Given the description of an element on the screen output the (x, y) to click on. 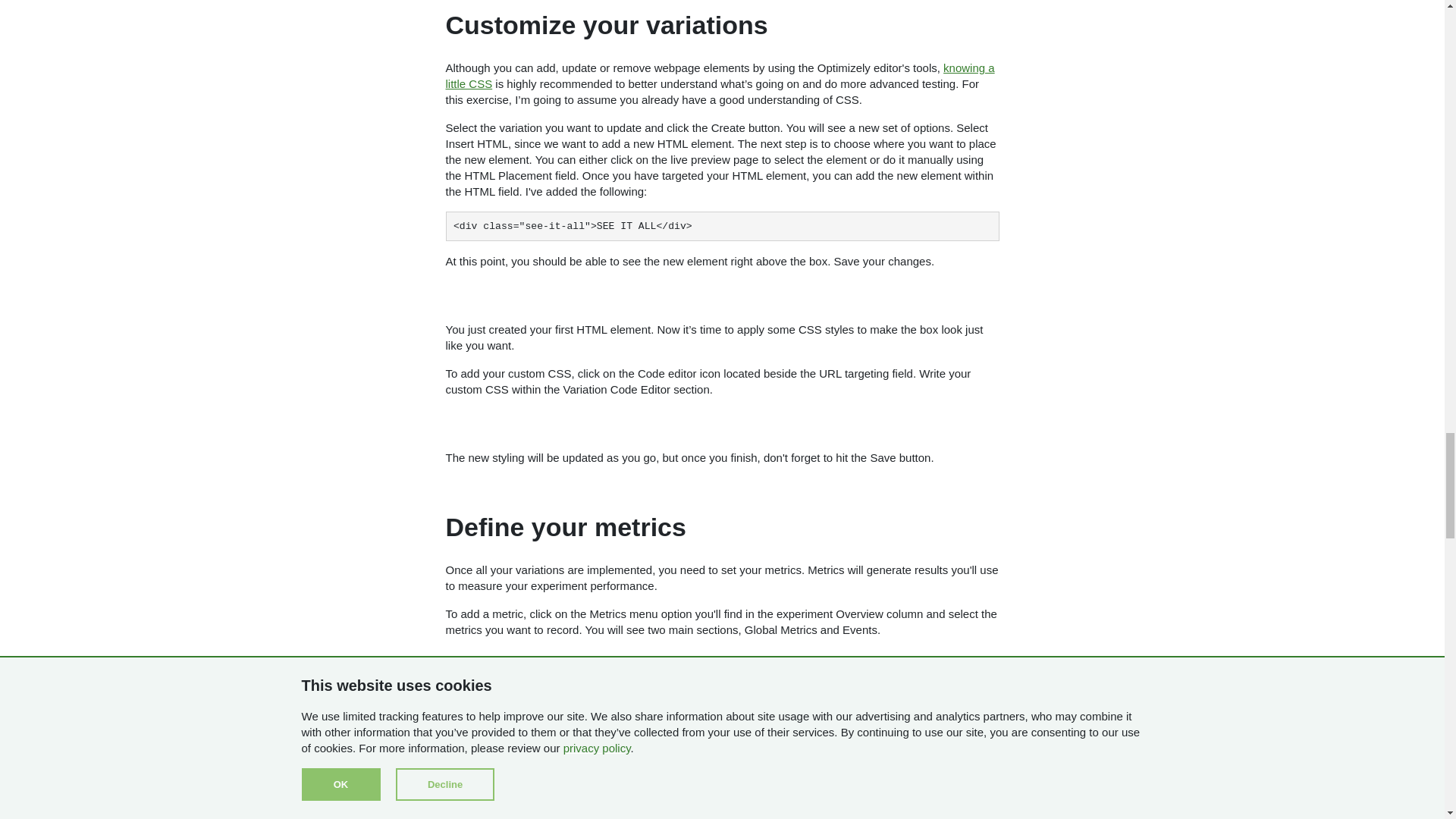
knowing a little CSS (719, 75)
